Given the description of an element on the screen output the (x, y) to click on. 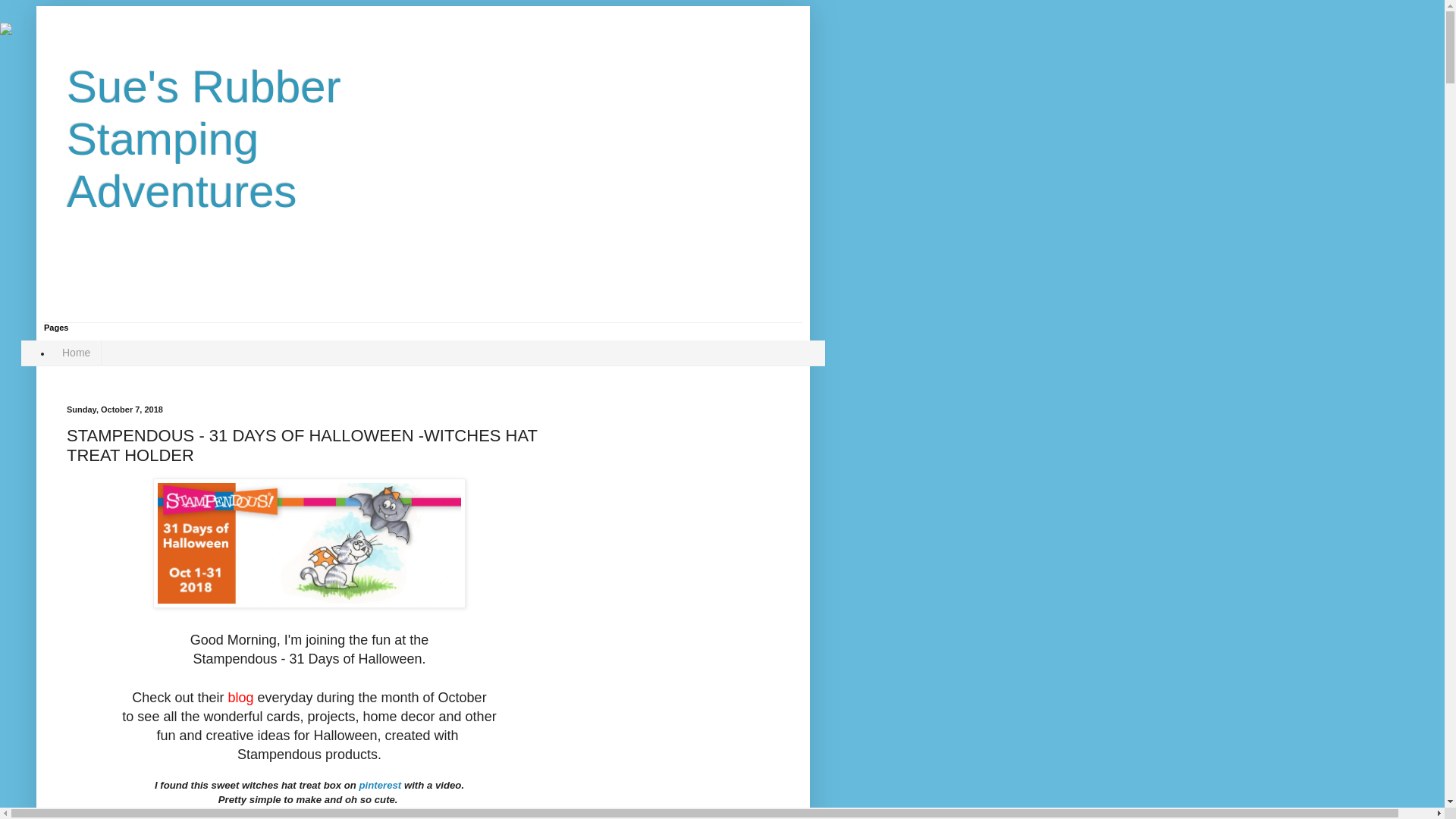
Sue's Rubber Stamping Adventures (203, 139)
pinterest (380, 785)
blog (240, 697)
Home (75, 352)
